Given the description of an element on the screen output the (x, y) to click on. 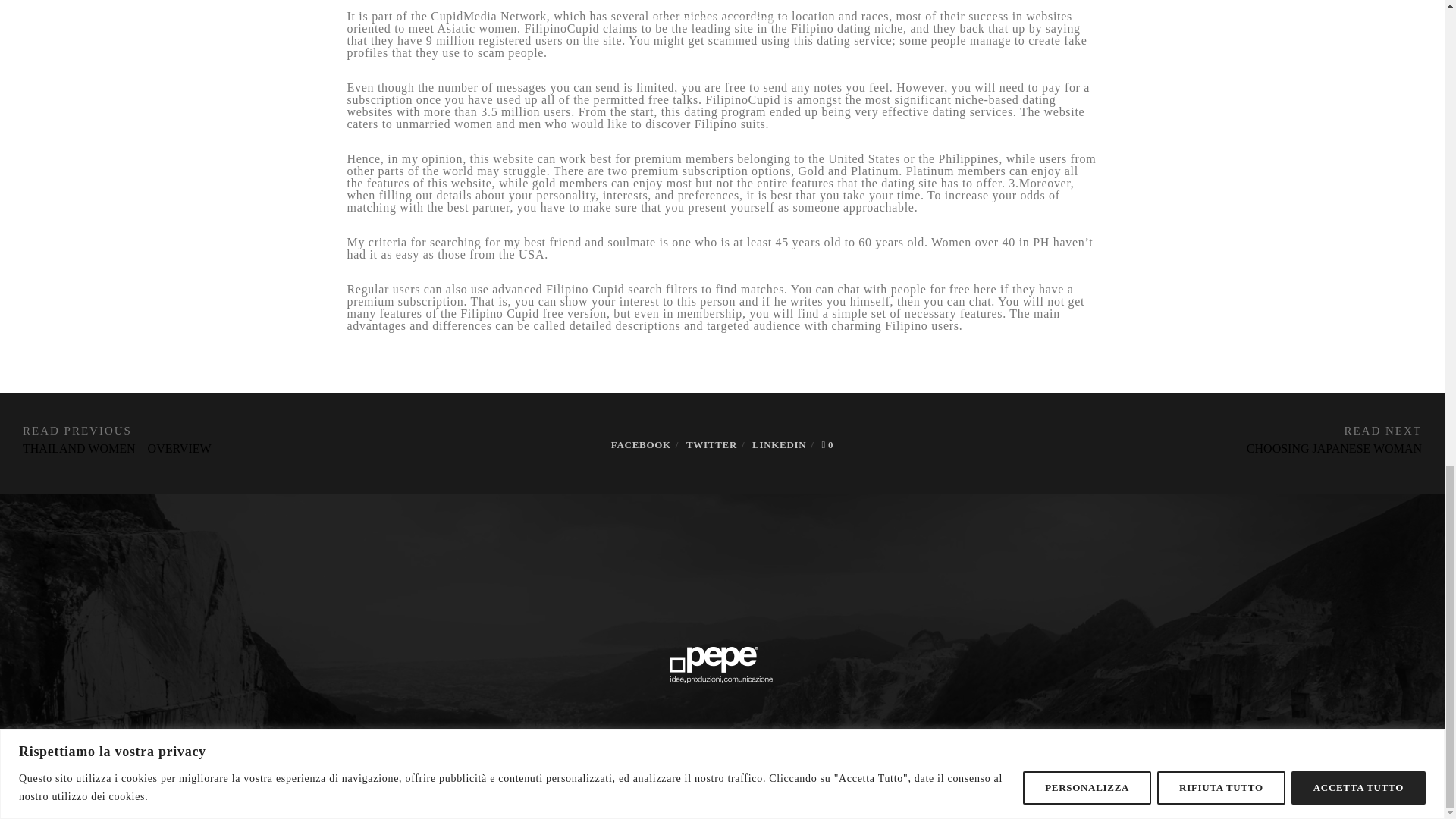
LINKEDIN (779, 443)
FACEBOOK (641, 443)
0 (826, 443)
TWITTER (710, 443)
